Given the description of an element on the screen output the (x, y) to click on. 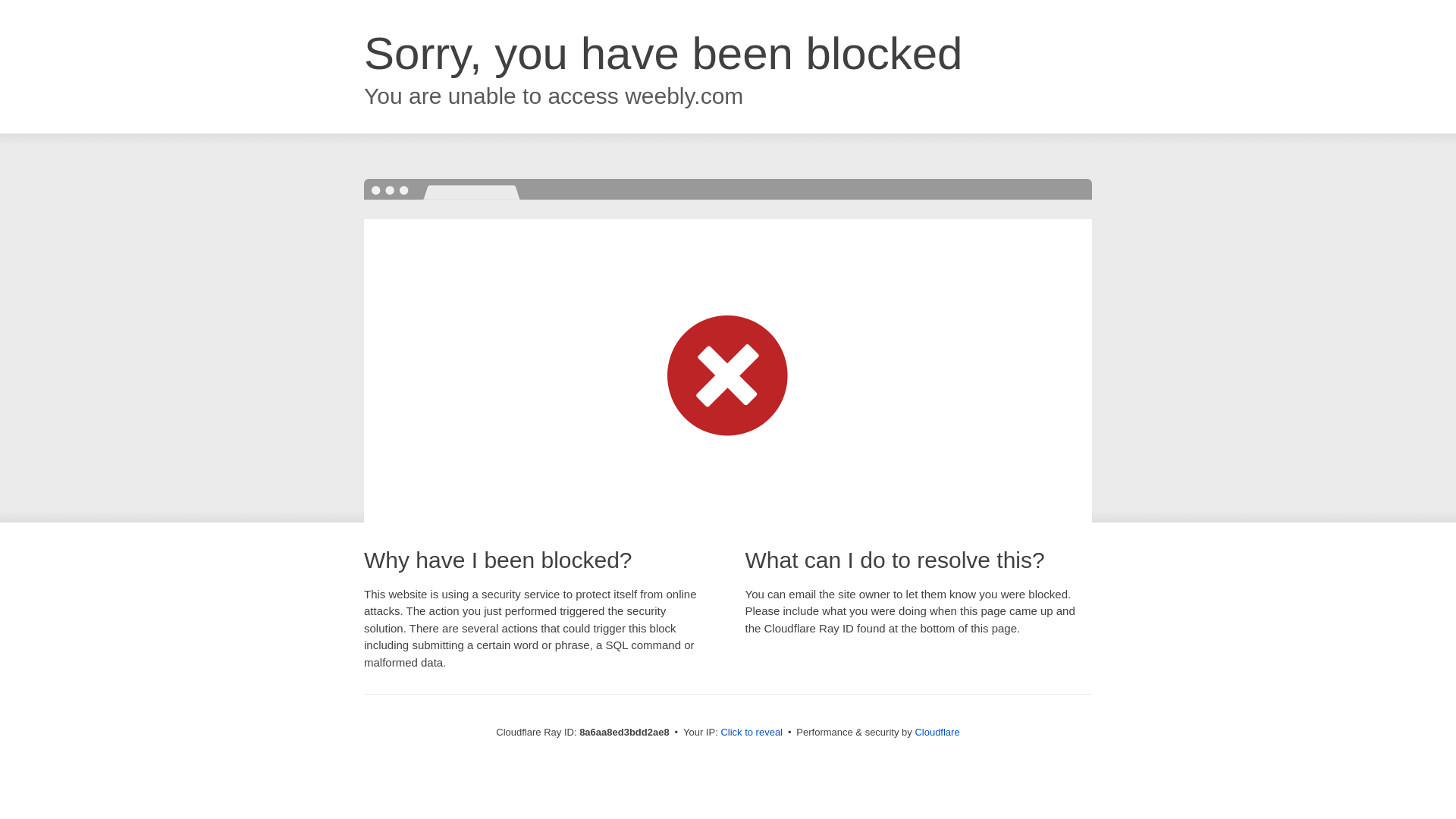
Click to reveal (751, 732)
Cloudflare (936, 731)
